Given the description of an element on the screen output the (x, y) to click on. 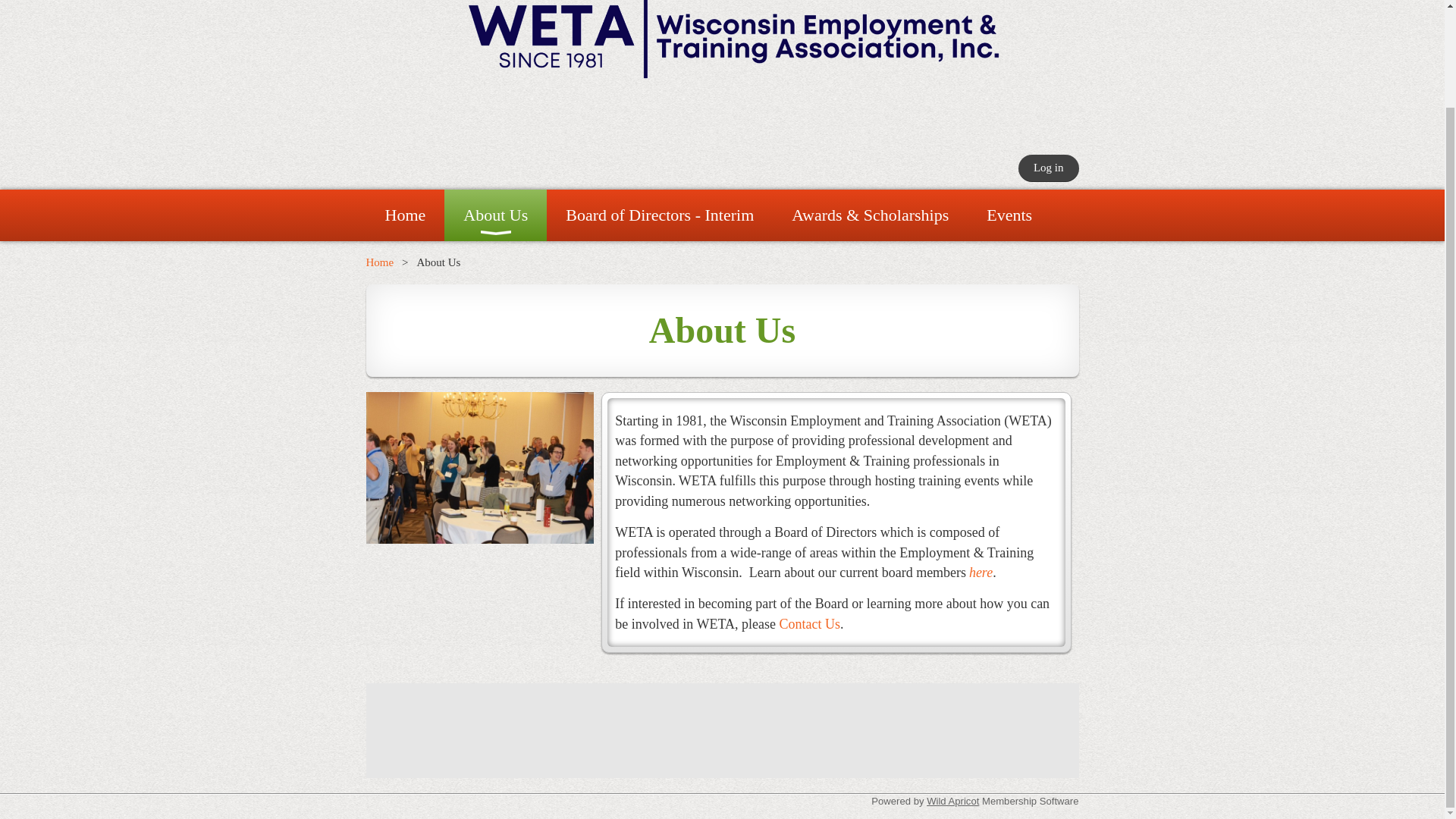
About Us (495, 214)
Contact Us (809, 623)
Board of Directors - Interim (660, 214)
Home (404, 214)
Board of Directors - Interim (660, 214)
Home (379, 262)
here (980, 573)
Log in (1047, 167)
Wild Apricot (952, 800)
Events (1009, 214)
